Given the description of an element on the screen output the (x, y) to click on. 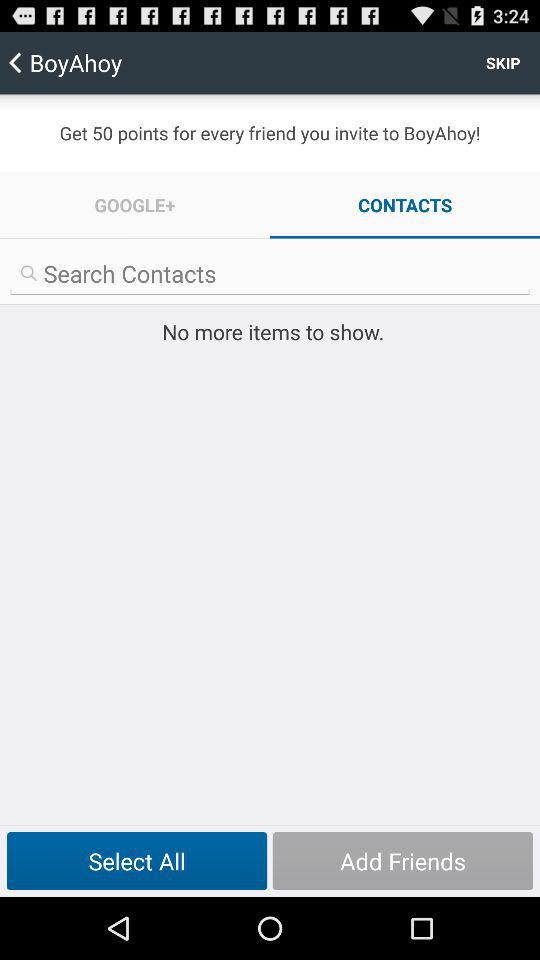
launch the no more items app (269, 331)
